Given the description of an element on the screen output the (x, y) to click on. 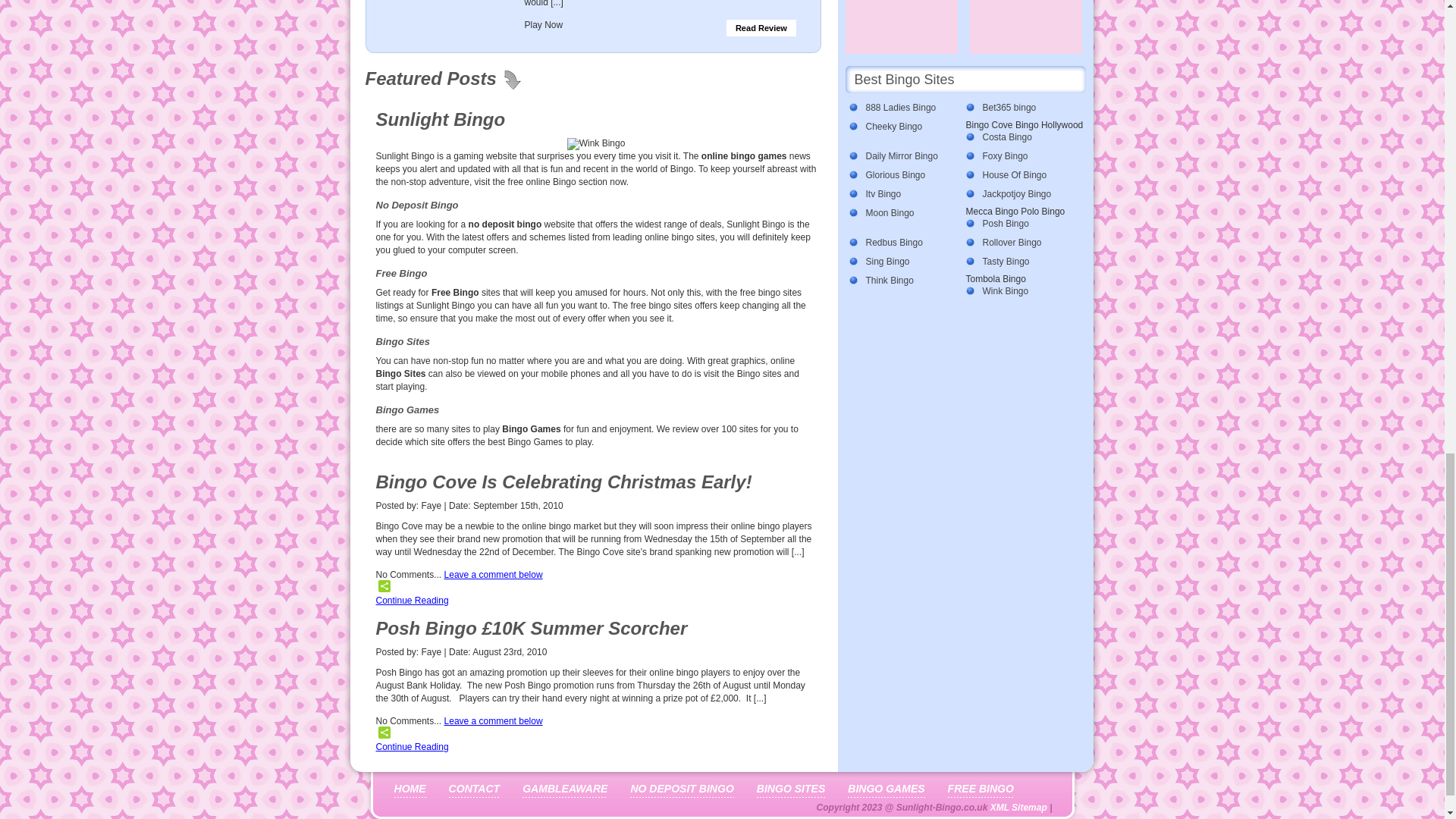
Posh Bingo (1020, 223)
Continue Reading (411, 600)
Itv Bingo (902, 194)
Cheeky Bingo (902, 126)
Daily Mirror Bingo (902, 156)
Continue Reading (411, 747)
Leave a comment below (493, 720)
Permanent Link to Bingo Cove Is Celebrating Christmas Early! (563, 481)
Costa Bingo (1020, 137)
Bingo Cove Is Celebrating Christmas Early! (563, 481)
House Of Bingo (1020, 175)
Moon Bingo (902, 213)
Comment on Bingo Cove Is Celebrating Christmas Early! (493, 574)
888 Ladies Bingo (902, 107)
Foxy Bingo (1020, 156)
